Given the description of an element on the screen output the (x, y) to click on. 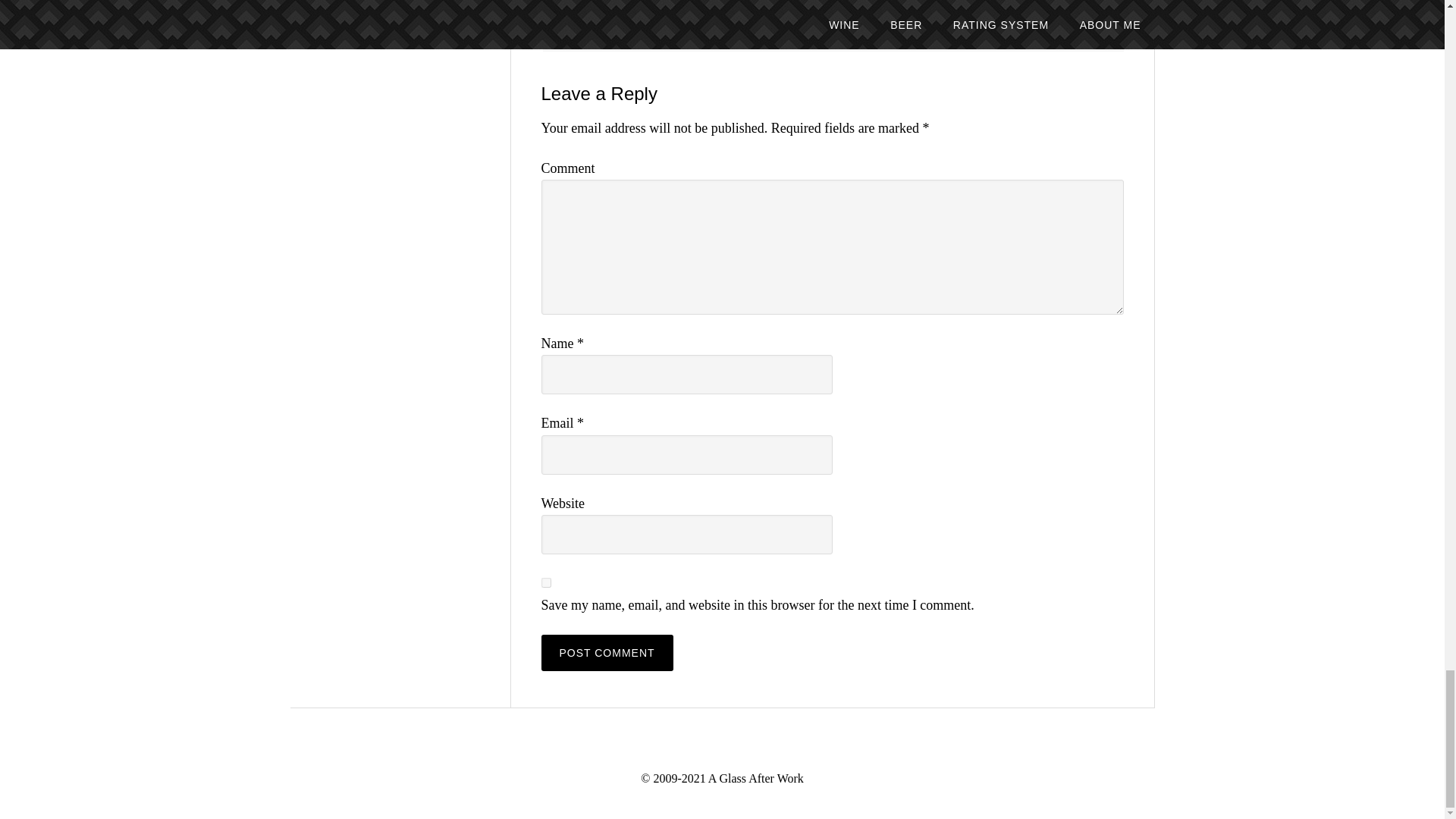
yes (546, 583)
Post Comment (606, 652)
